Given the description of an element on the screen output the (x, y) to click on. 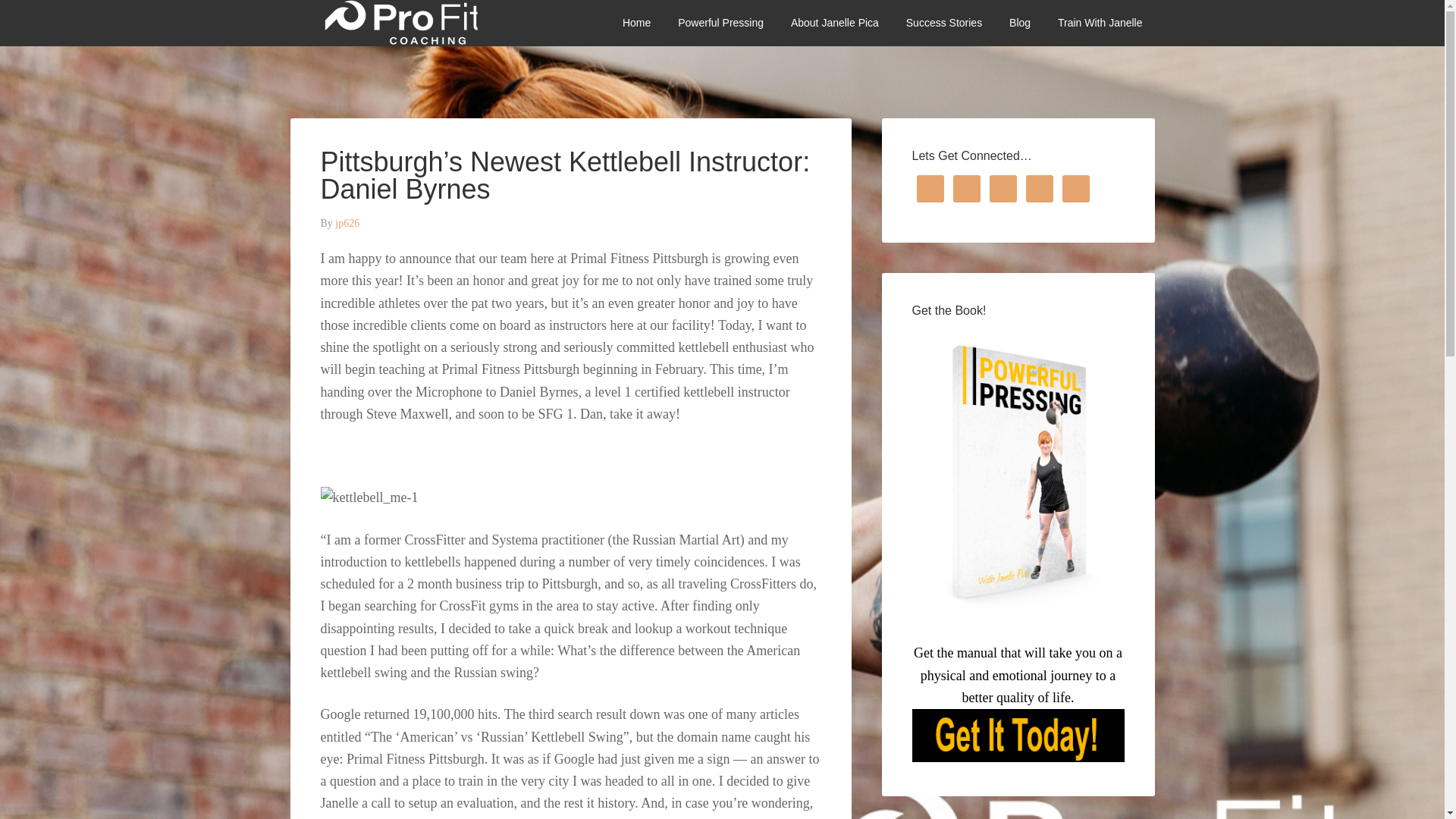
Success Stories (943, 22)
Home (636, 22)
Train With Janelle (1099, 22)
jp626 (346, 223)
Blog (1019, 22)
JANELLE PICA (402, 22)
About Janelle Pica (834, 22)
Powerful Pressing (720, 22)
